Given the description of an element on the screen output the (x, y) to click on. 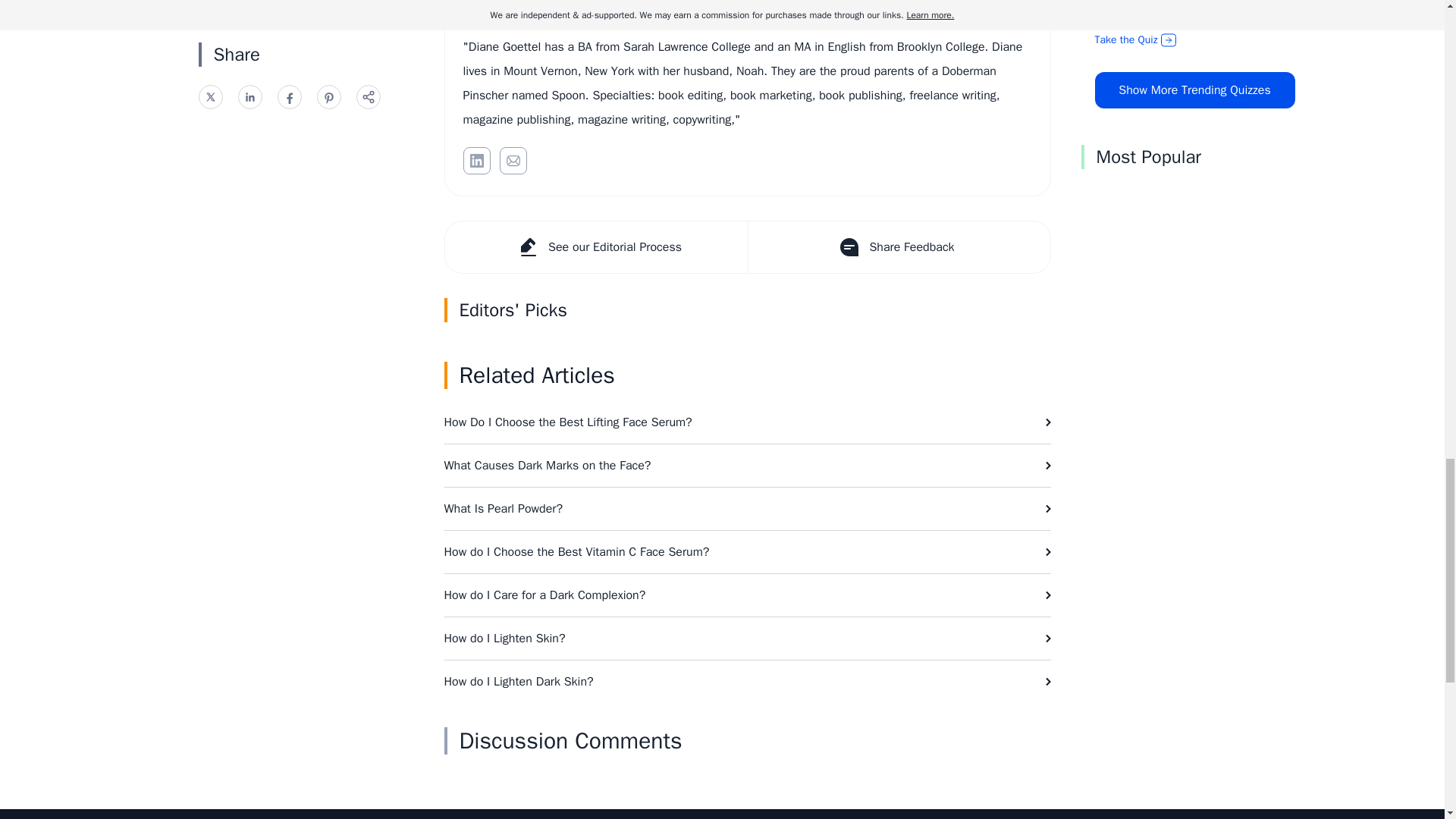
What Causes Dark Marks on the Face? (747, 465)
Share Feedback (898, 246)
How do I Choose the Best Vitamin C Face Serum? (747, 551)
How do I Lighten Dark Skin? (747, 681)
See our Editorial Process (595, 246)
How do I Care for a Dark Complexion? (747, 595)
What Is Pearl Powder? (747, 508)
How do I Lighten Skin? (747, 638)
How Do I Choose the Best Lifting Face Serum? (747, 422)
